Given the description of an element on the screen output the (x, y) to click on. 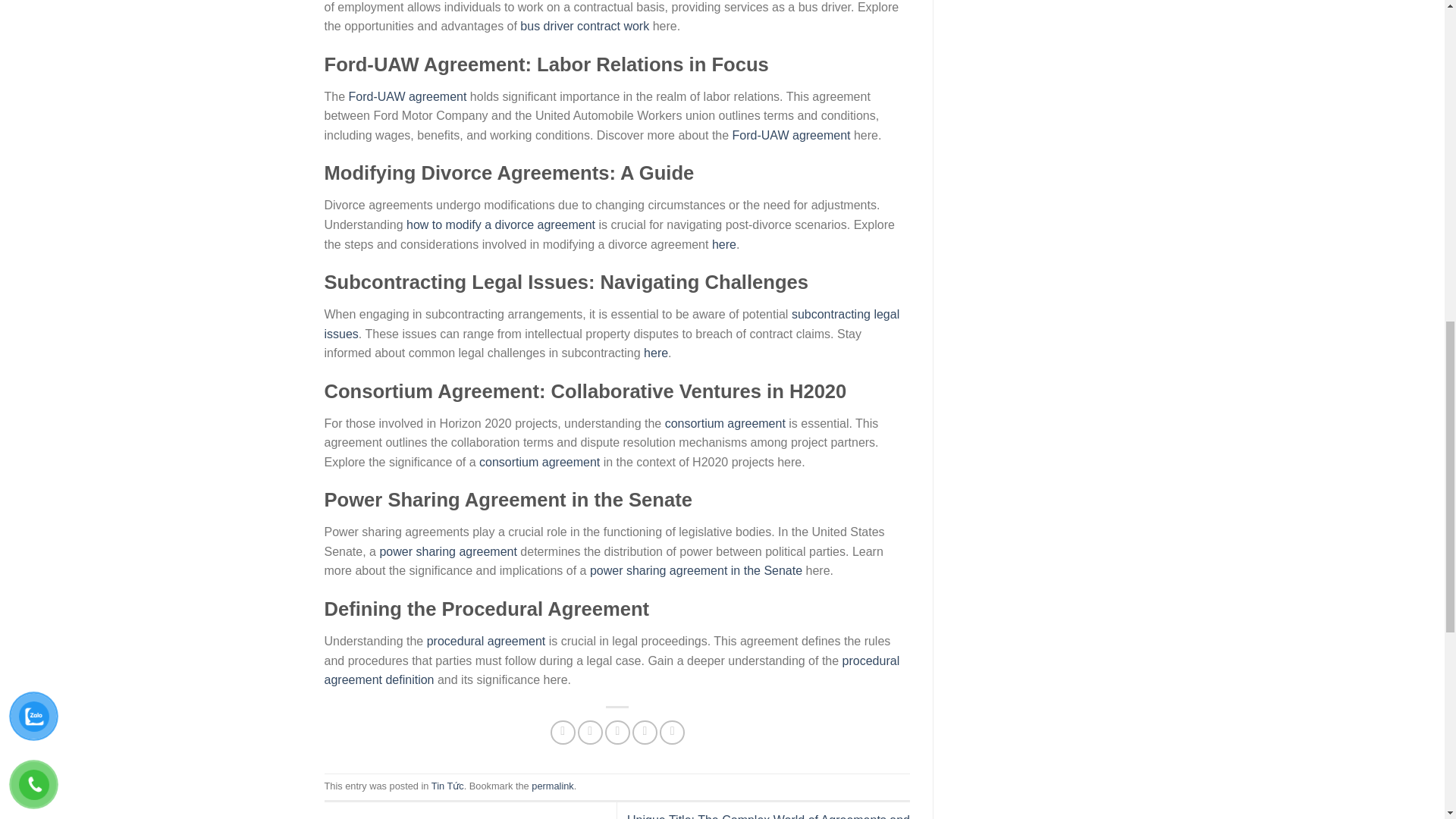
Email to a Friend (617, 732)
Share on Facebook (562, 732)
Pin on Pinterest (644, 732)
Share on Twitter (590, 732)
Share on LinkedIn (671, 732)
